Given the description of an element on the screen output the (x, y) to click on. 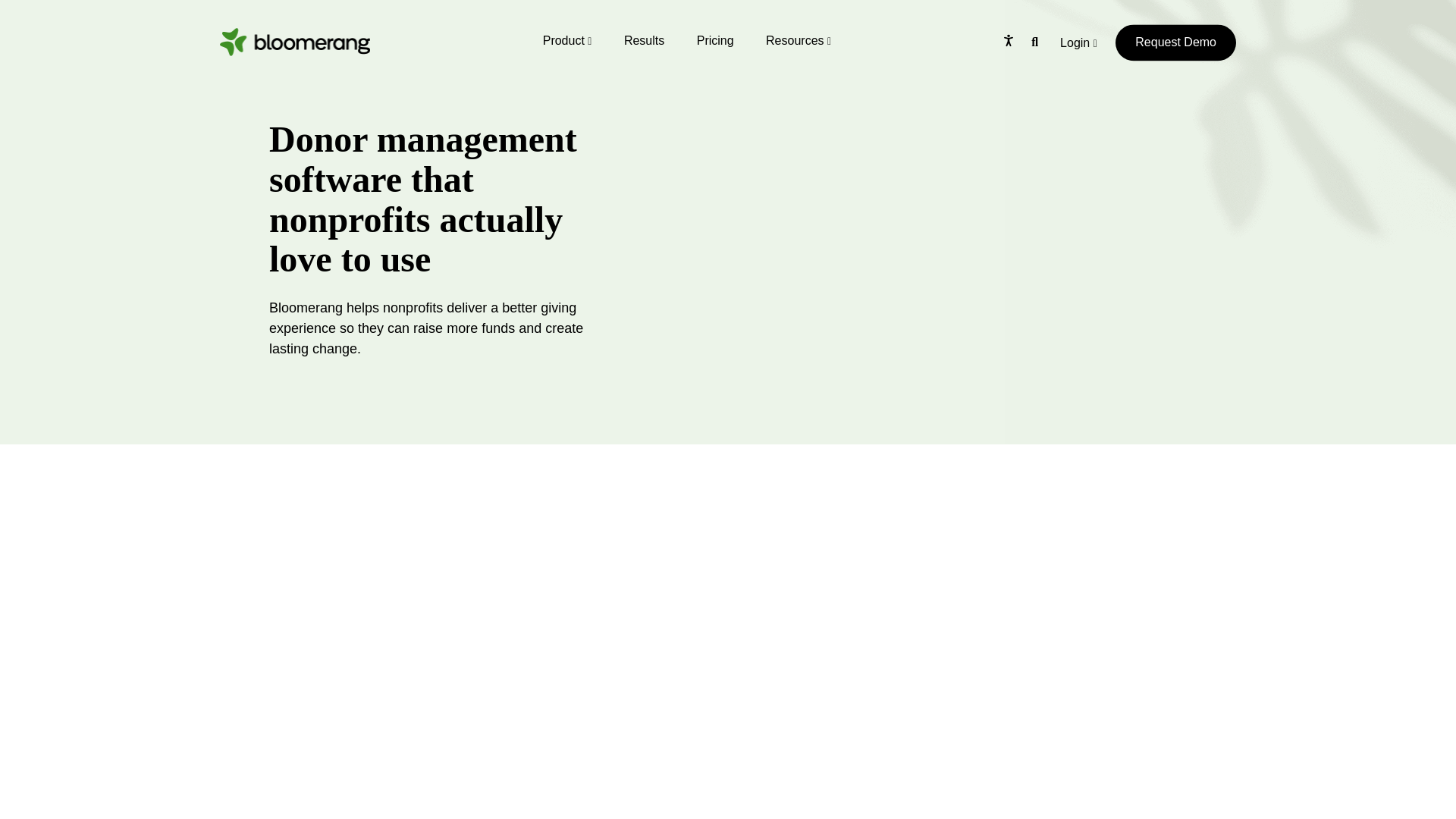
Results (643, 40)
Product (567, 40)
Pricing (715, 40)
Resources (798, 40)
Request Demo (1175, 42)
Login (1078, 50)
